Given the description of an element on the screen output the (x, y) to click on. 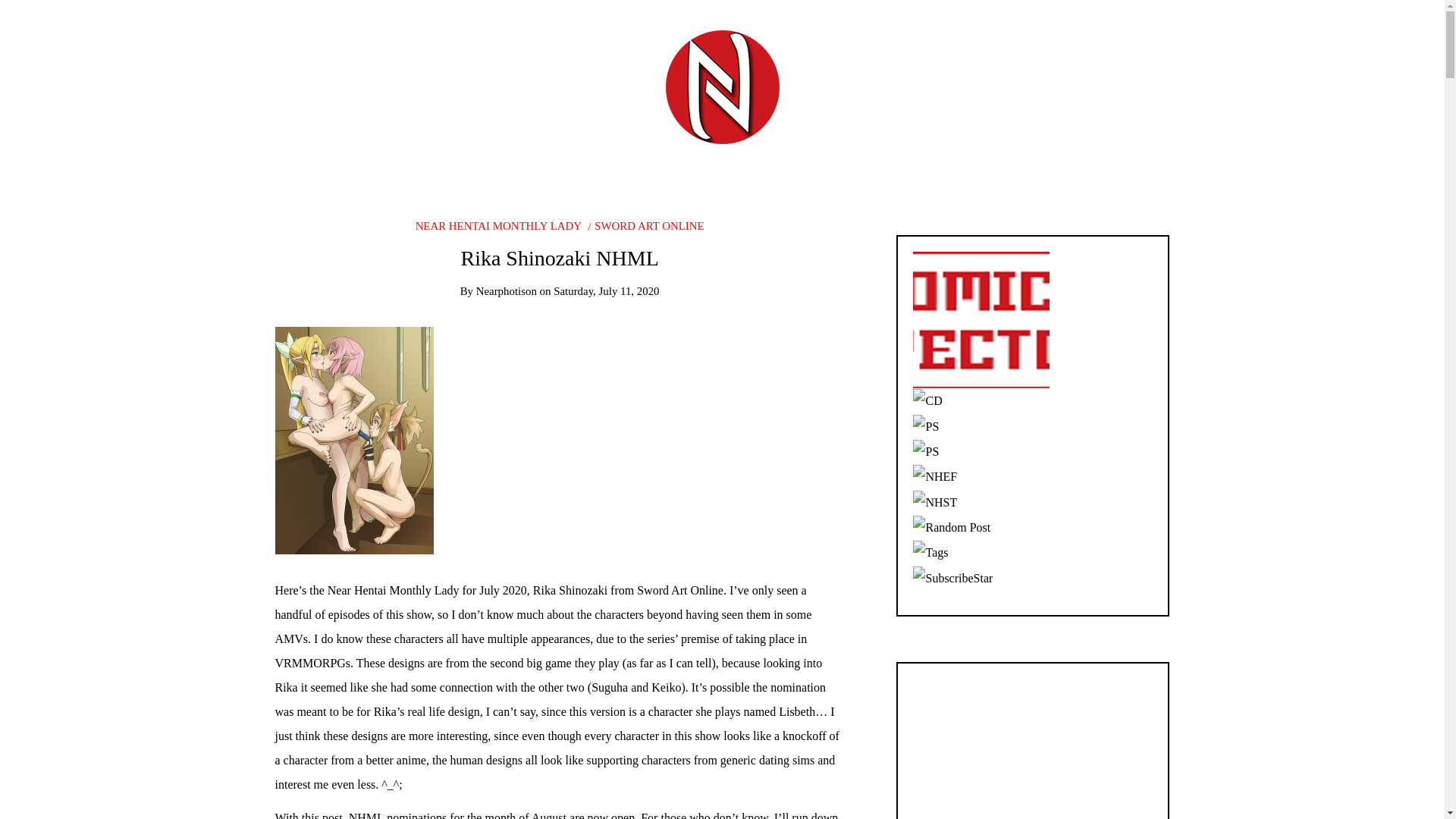
Saturday, July 11, 2020 (606, 291)
Nearphotison (506, 291)
Posts by Nearphotison (506, 291)
NEAR HENTAI MONTHLY LADY (497, 225)
SWORD ART ONLINE (645, 225)
